Given the description of an element on the screen output the (x, y) to click on. 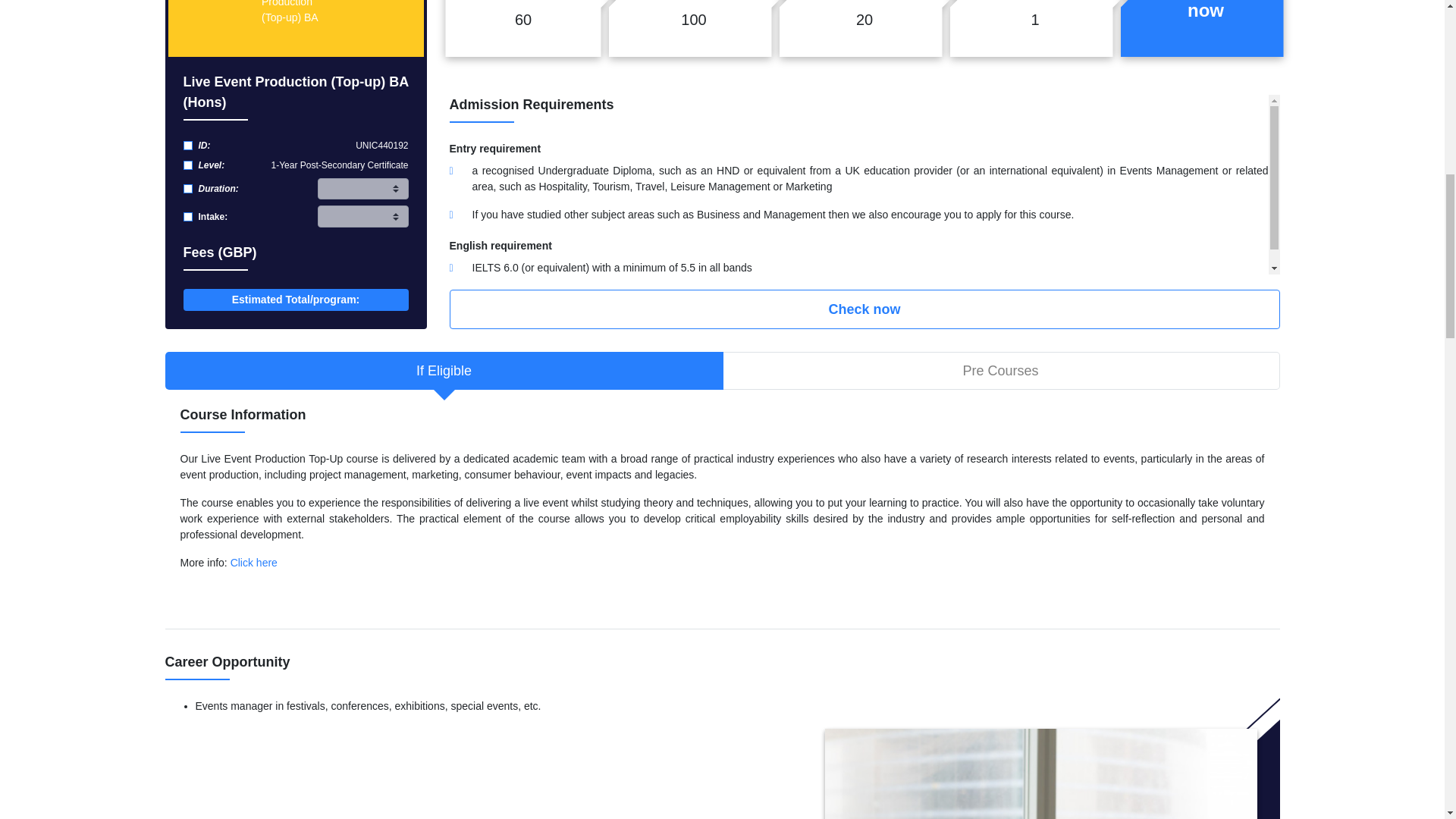
If Eligible (443, 370)
Pre Courses (1000, 370)
Check now (863, 309)
Click here (254, 562)
